Given the description of an element on the screen output the (x, y) to click on. 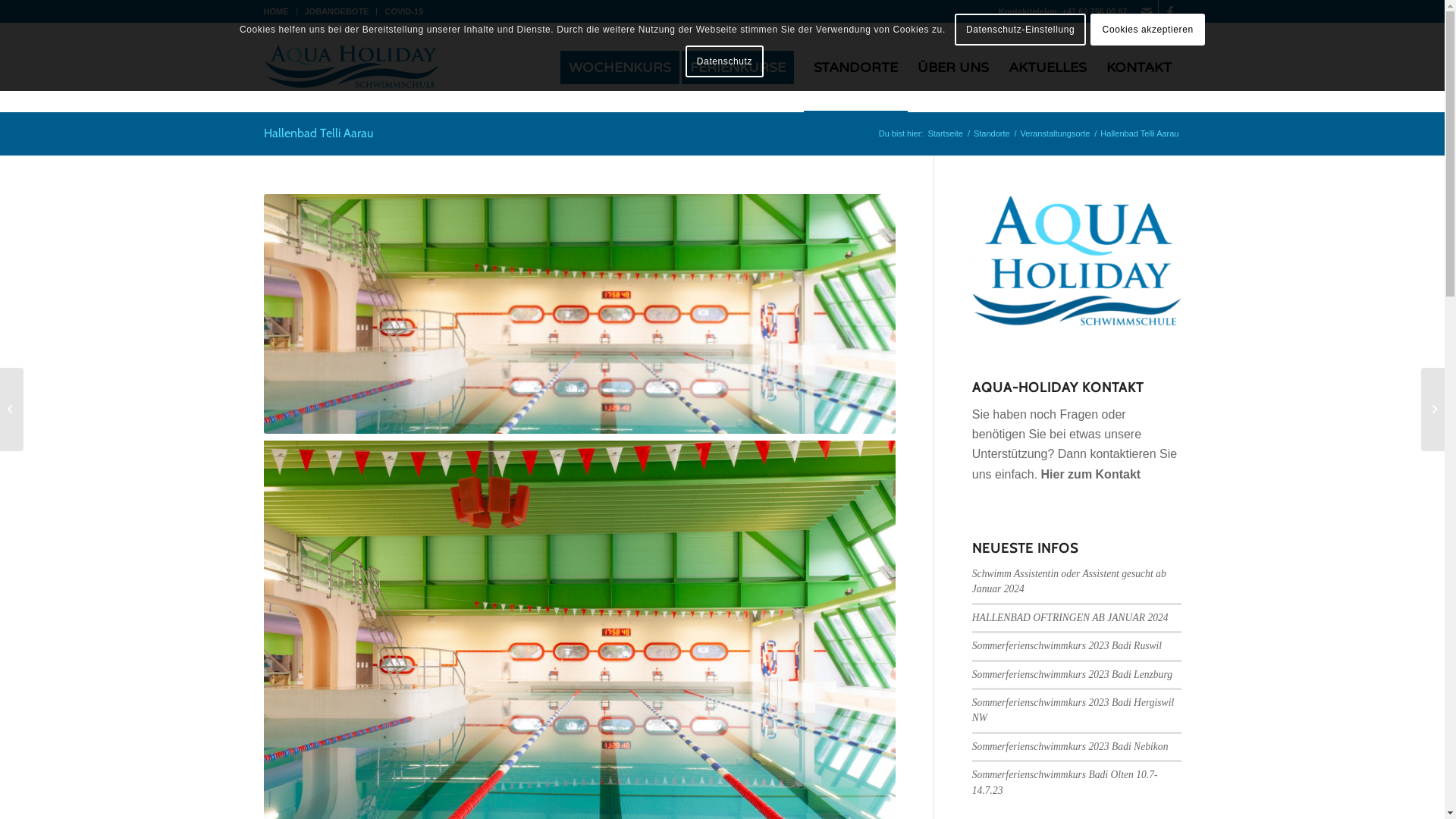
KONTAKT Element type: text (1138, 67)
Veranstaltungsorte Element type: text (1055, 133)
AKTUELLES Element type: text (1046, 67)
Datenschutz-Einstellung Element type: text (1020, 29)
JOBANGEBOTE Element type: text (336, 11)
Hallenbad Telli Aarau Element type: text (318, 132)
Facebook Element type: hover (1169, 11)
Sommerferienschwimmkurs 2023 Badi Lenzburg Element type: text (1072, 674)
Schwimm Assistentin oder Assistent gesucht ab Januar 2024 Element type: text (1069, 580)
Startseite Element type: text (944, 133)
WOCHENKURS Element type: text (619, 67)
Sommerferienschwimmkurs 2023 Badi Ruswil Element type: text (1066, 645)
FERIENKURSE Element type: text (741, 67)
Hier zum Kontakt Element type: text (1091, 473)
Cookies akzeptieren Element type: text (1147, 29)
Mail Element type: hover (1146, 11)
COVID-19 Element type: text (403, 11)
STANDORTE Element type: text (855, 67)
Sommerferienschwimmkurs 2023 Badi Hergiswil NW Element type: text (1072, 709)
Standorte Element type: text (991, 133)
HALLENBAD OFTRINGEN AB JANUAR 2024 Element type: text (1070, 617)
Sommerferienschwimmkurs Badi Olten 10.7-14.7.23 Element type: text (1064, 781)
Datenschutz Element type: text (724, 61)
Sommerferienschwimmkurs 2023 Badi Nebikon Element type: text (1070, 746)
HOME Element type: text (275, 11)
